Given the description of an element on the screen output the (x, y) to click on. 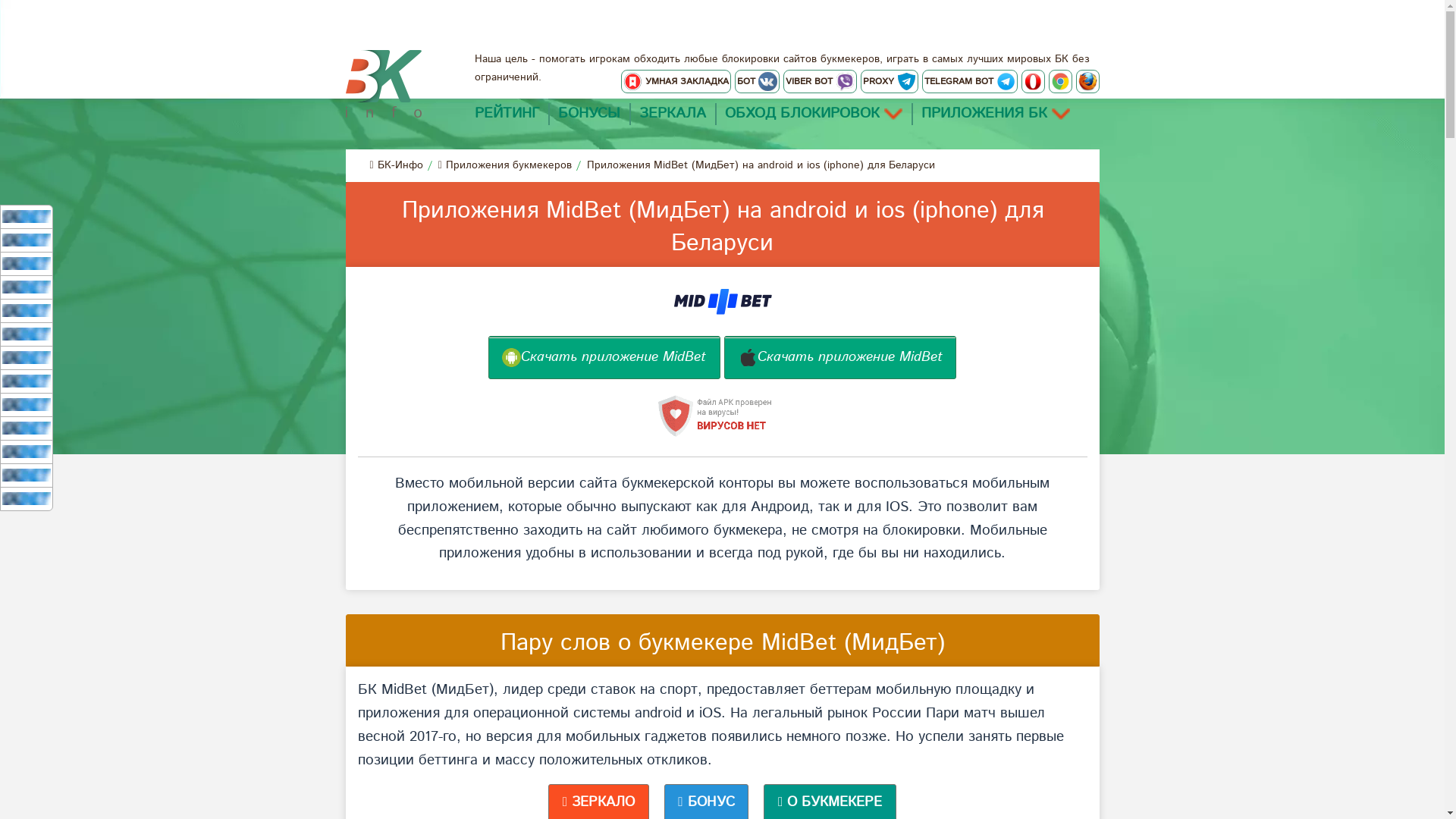
Spinbetter Element type: hover (26, 404)
TELEGRAM BOT Element type: text (969, 81)
Betwinner Element type: hover (26, 310)
Pin-Up Bet Element type: hover (26, 427)
Legzo Element type: hover (26, 451)
VIBER BOT Element type: text (819, 81)
Favbet Element type: hover (26, 498)
PROXY Element type: text (888, 81)
1XBet Element type: hover (26, 216)
Mostbet Element type: hover (26, 380)
Pinnacle Element type: hover (26, 286)
MelBet Element type: hover (26, 239)
